Given the description of an element on the screen output the (x, y) to click on. 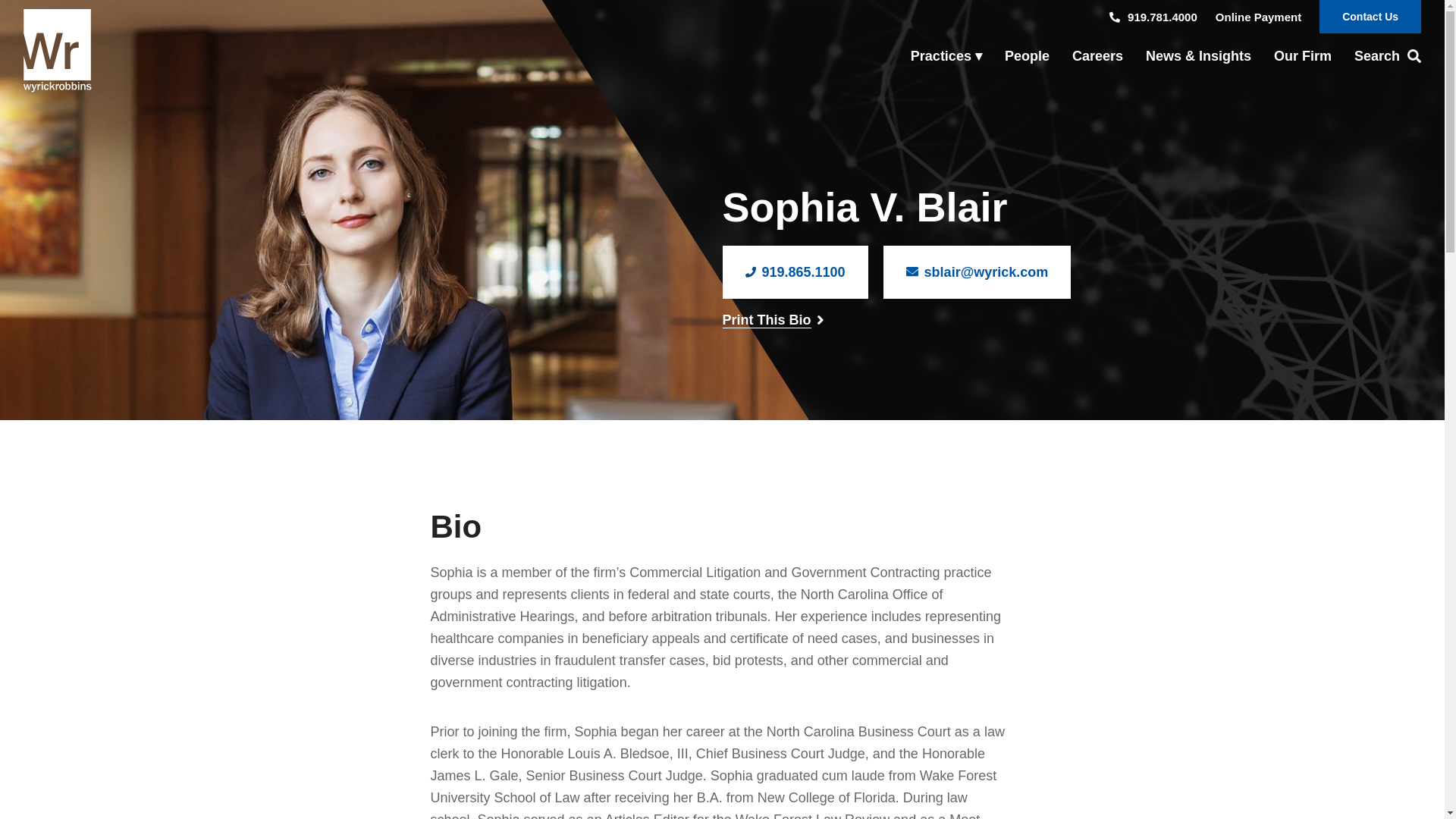
Careers (1097, 56)
Print This Bio (766, 320)
Contact Us (1370, 16)
Search (1381, 56)
Online Payment (1258, 16)
Our Firm (1302, 56)
919.781.4000 (1152, 16)
919.865.1100 (794, 271)
Practices (945, 56)
People (1026, 56)
